Given the description of an element on the screen output the (x, y) to click on. 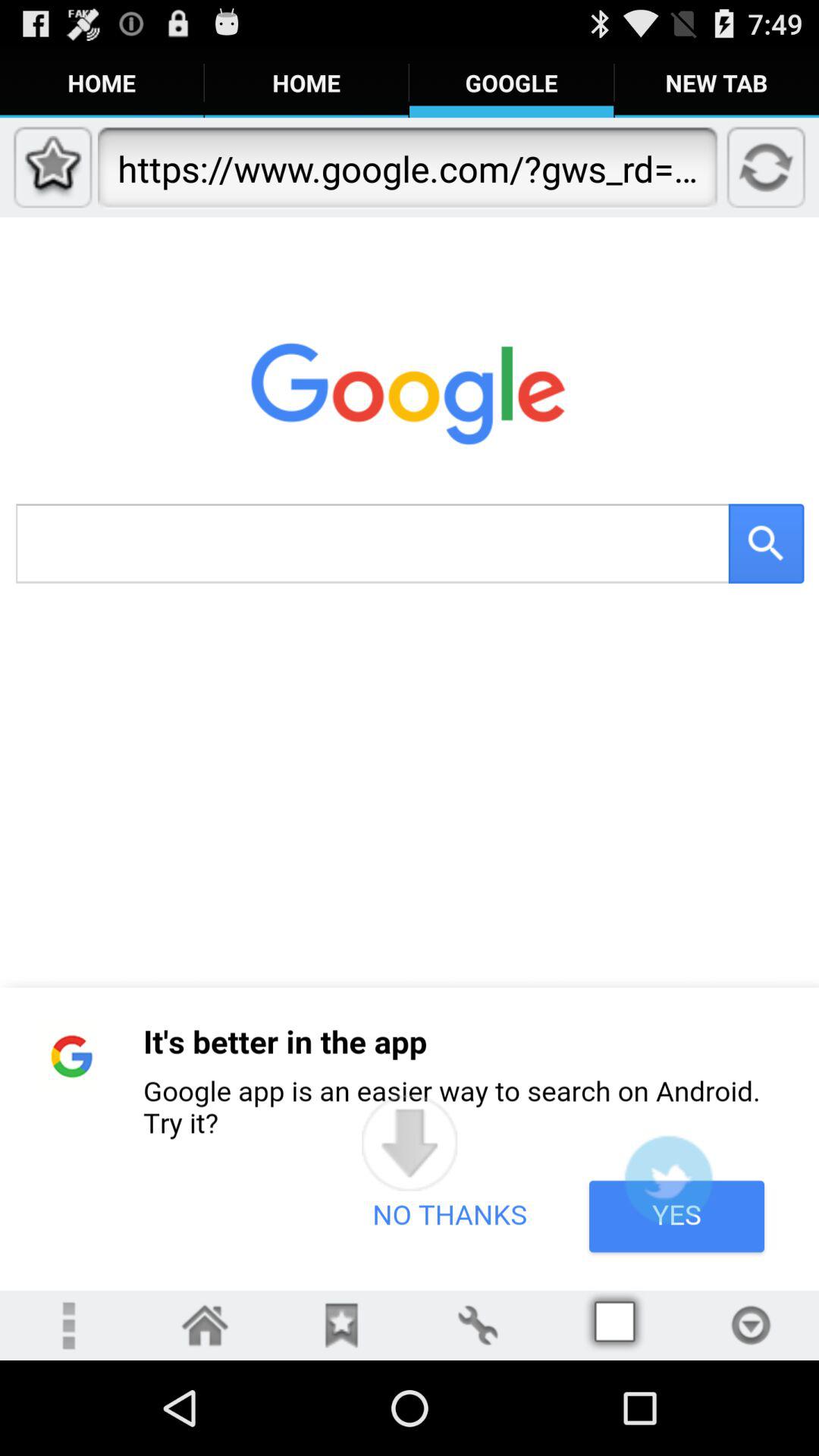
stop button (750, 1325)
